Given the description of an element on the screen output the (x, y) to click on. 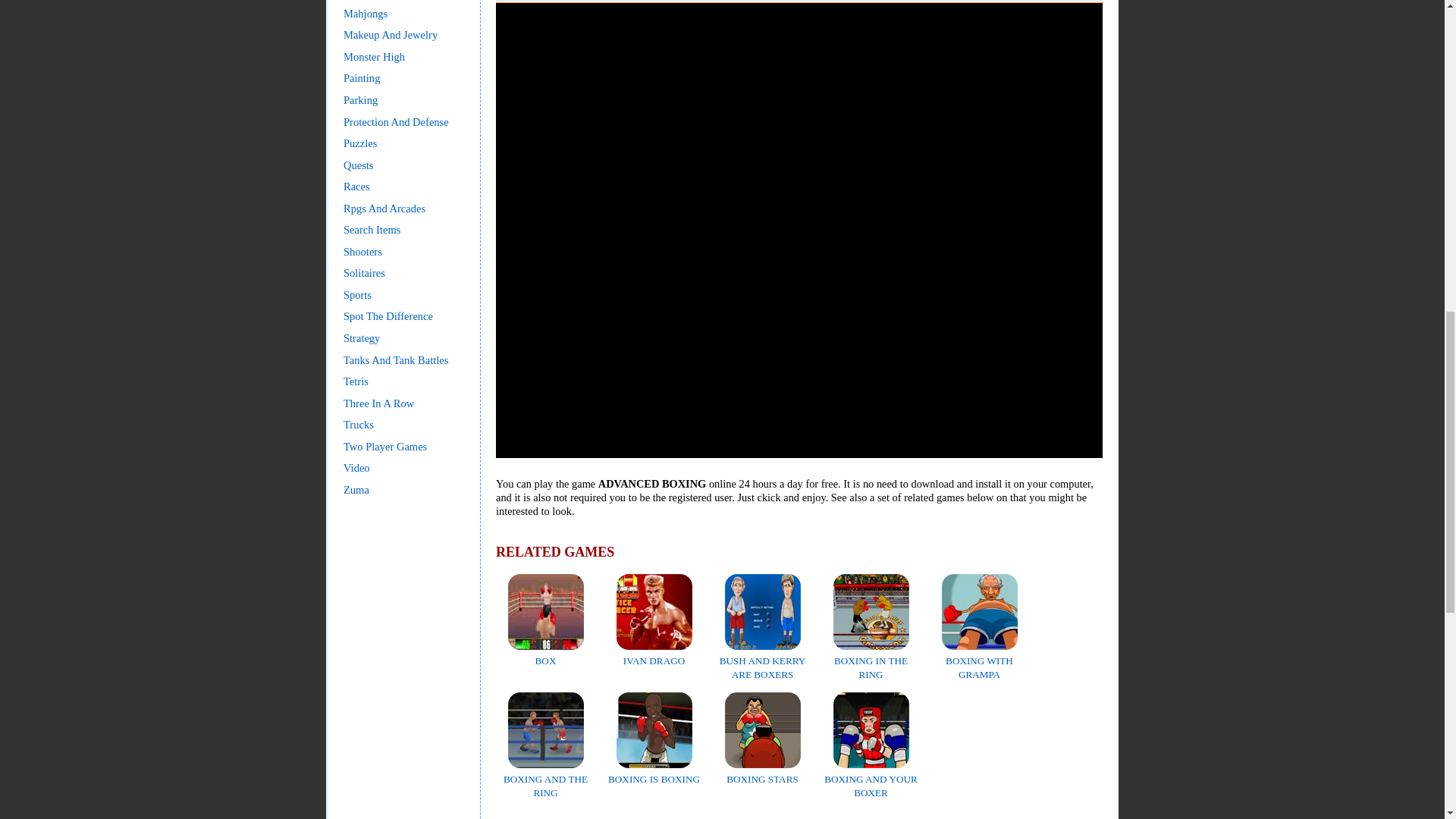
IVAN DRAGO (653, 653)
BOXING AND YOUR BOXER (870, 779)
BOXING IS BOXING (654, 772)
BOXING AND THE RING (545, 779)
BOXING AND THE RING (545, 779)
BUSH AND KERRY ARE BOXERS (762, 660)
BOXING IN THE RING (870, 660)
BOXING WITH GRAMPA (979, 660)
BOXING STARS (762, 772)
BOXING IN THE RING (870, 660)
BOXING STARS (762, 772)
BOX (545, 653)
BOXING AND YOUR BOXER (870, 779)
BOXING WITH GRAMPA (979, 660)
BOX (545, 653)
